Given the description of an element on the screen output the (x, y) to click on. 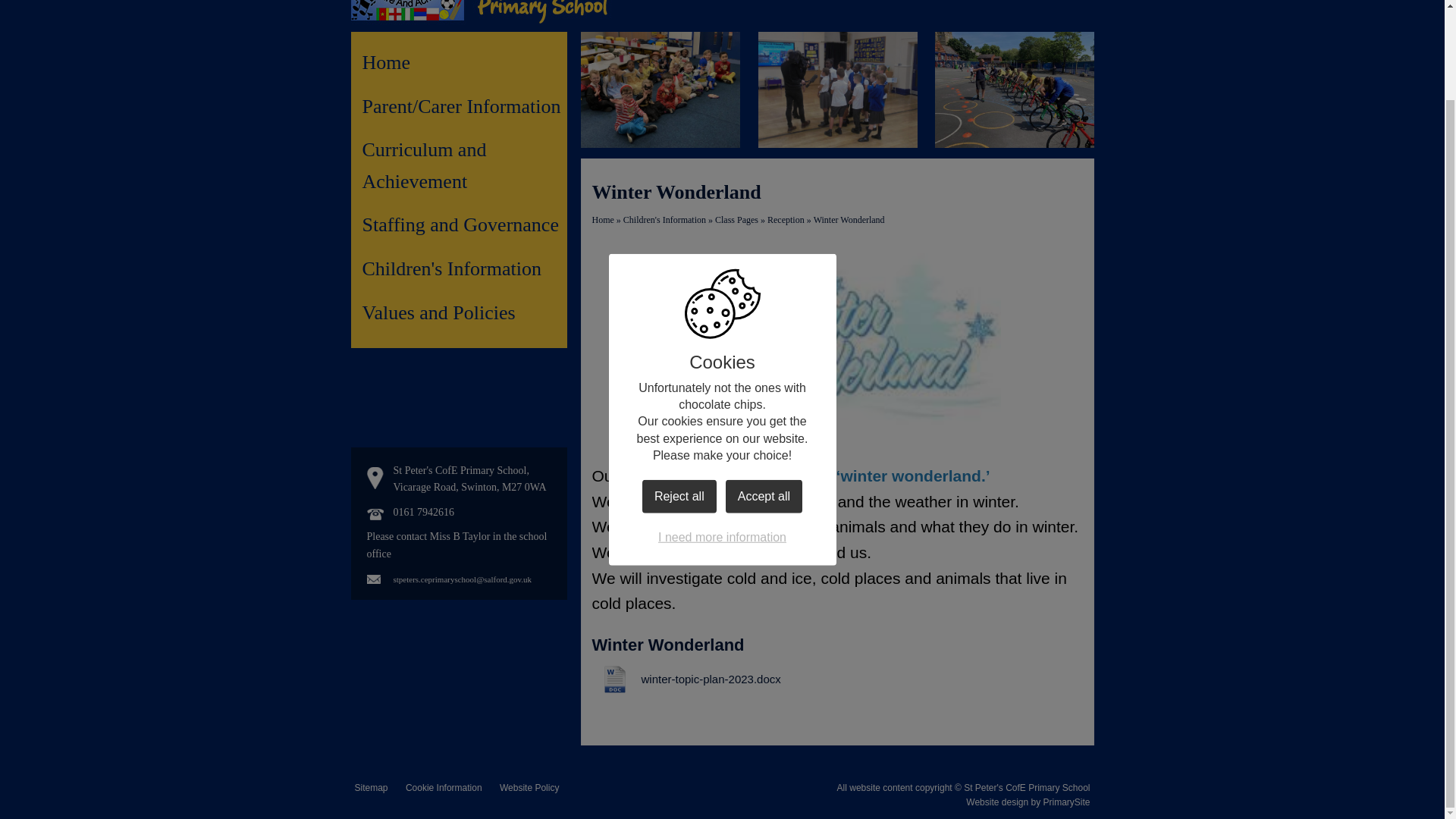
winter-topic-plan-2023.docx (685, 678)
Winter Wonderland (849, 219)
Home (601, 219)
Home (464, 62)
Home Page (391, 11)
Home Page (391, 11)
Class Pages (736, 219)
Reception (786, 219)
Children's Information (664, 219)
